Given the description of an element on the screen output the (x, y) to click on. 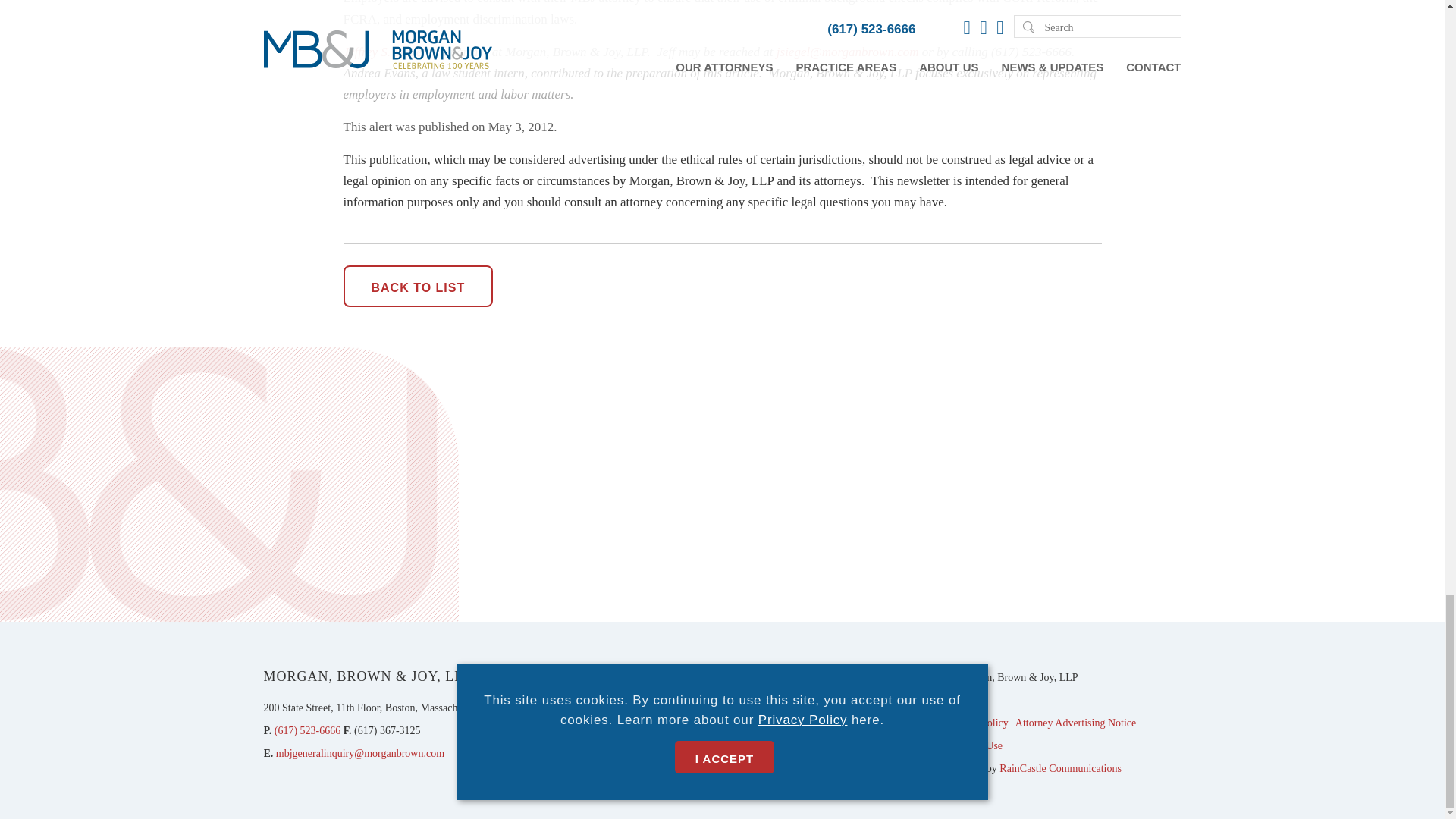
Jeffrey S. Siegel (383, 51)
BACK TO LIST (417, 286)
